Given the description of an element on the screen output the (x, y) to click on. 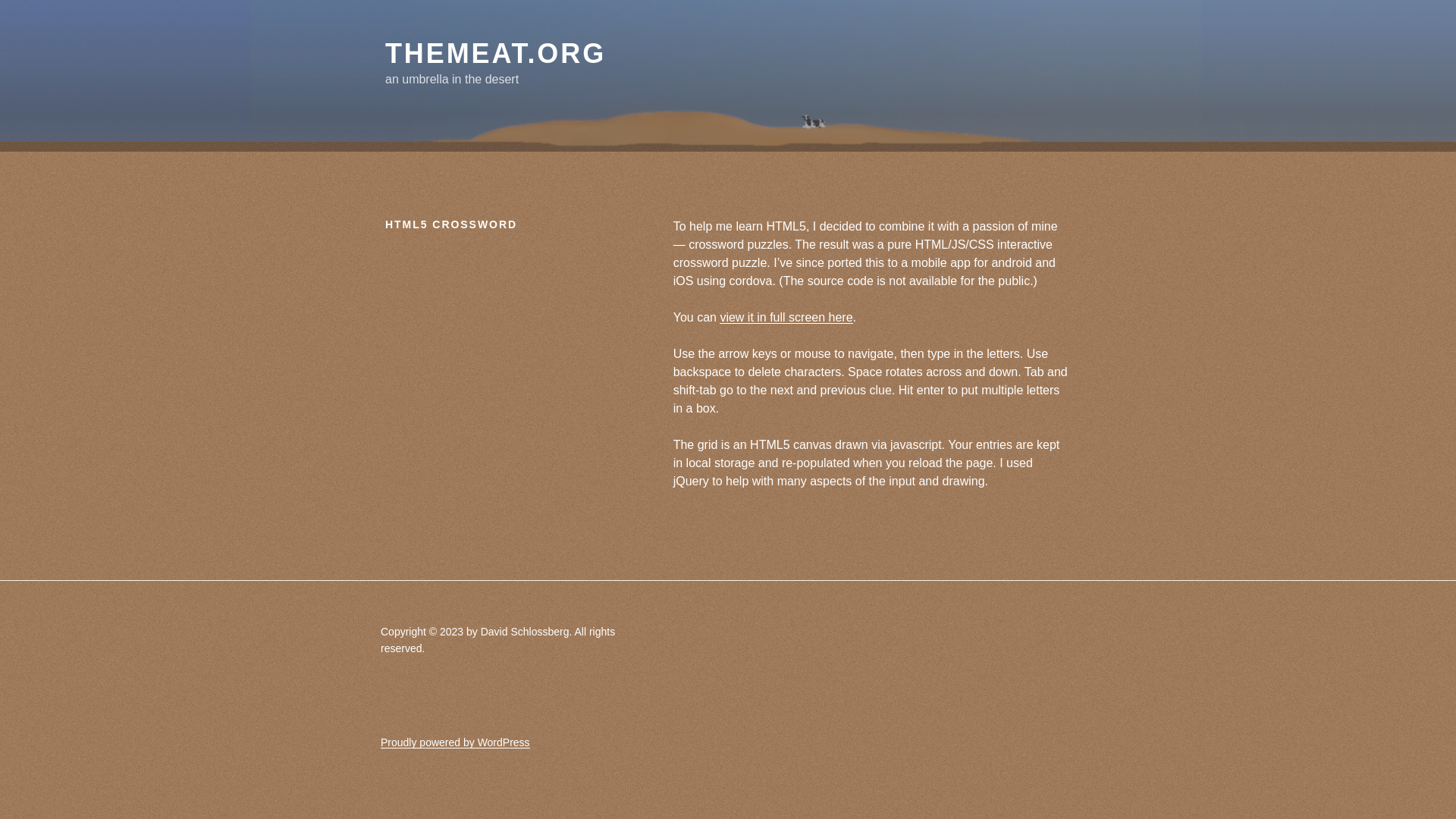
view it in full screen here (785, 317)
Proudly powered by WordPress (454, 742)
THEMEAT.ORG (495, 52)
